Given the description of an element on the screen output the (x, y) to click on. 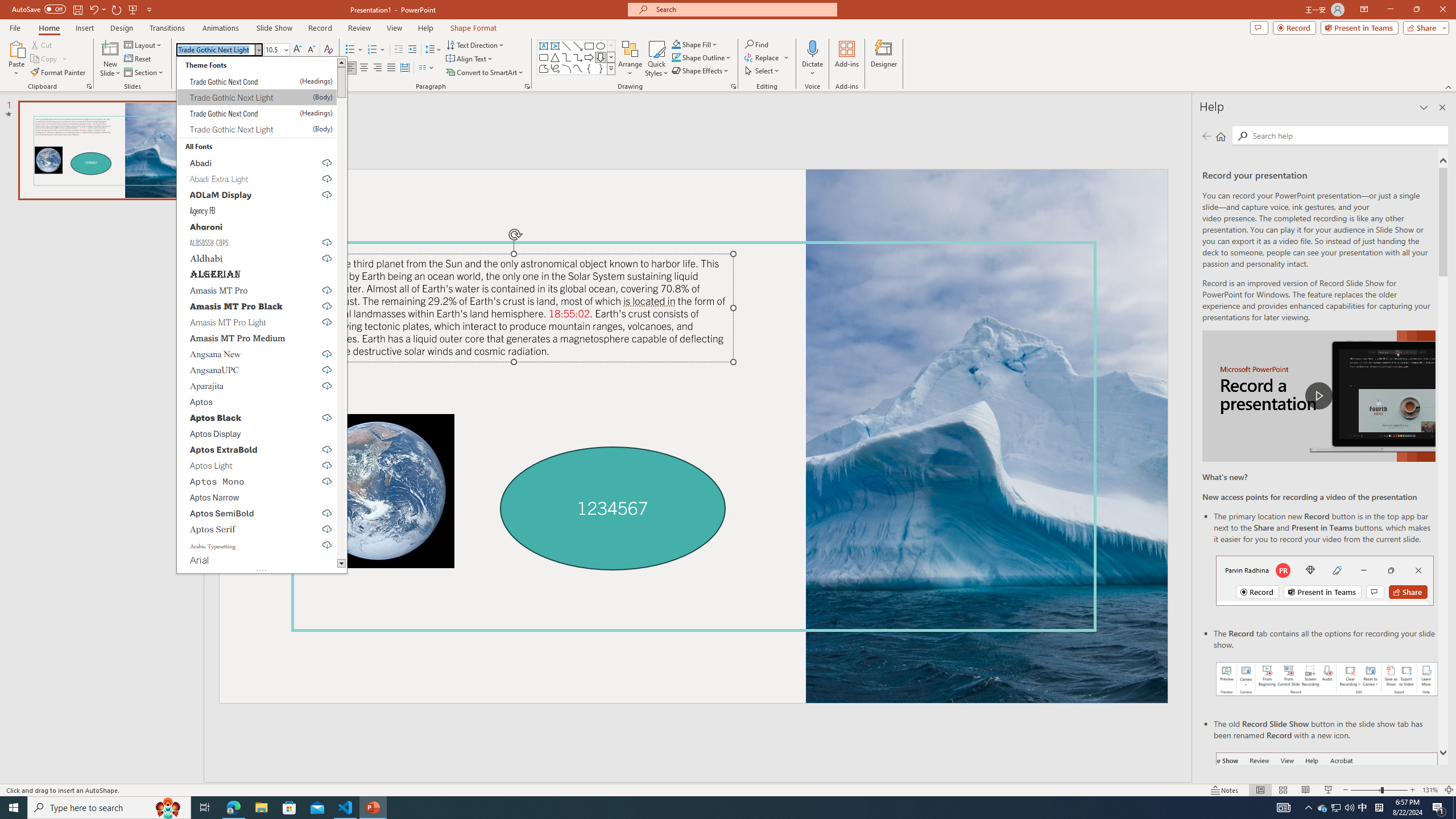
Rectangle: Rounded Corners (543, 57)
